Given the description of an element on the screen output the (x, y) to click on. 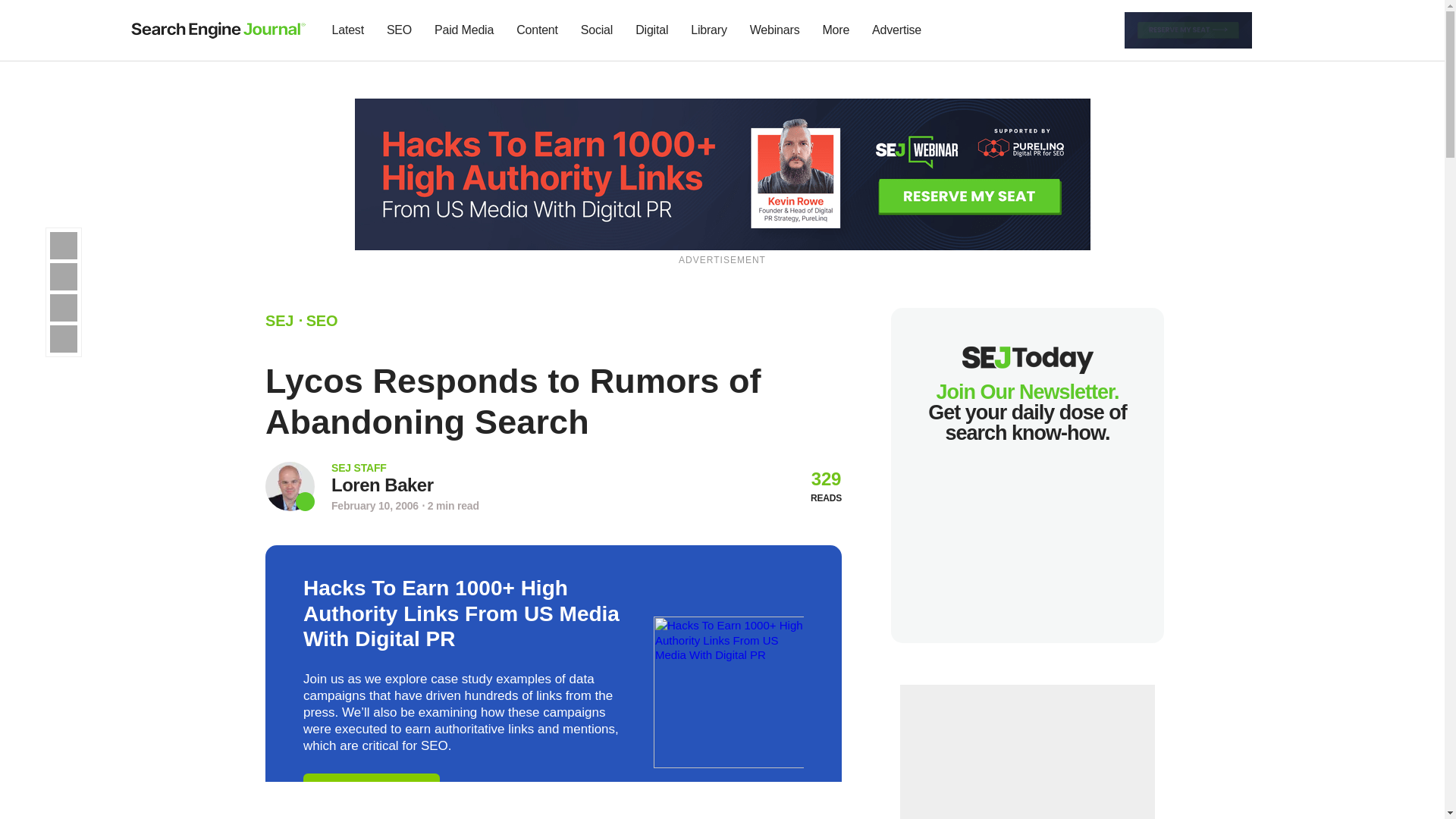
Go to Author Page (382, 485)
Paid Media (464, 30)
Go to Author Page (289, 486)
Latest (347, 30)
Register For Free (1187, 28)
Register For Free (722, 172)
Subscribe to our Newsletter (1277, 30)
